Given the description of an element on the screen output the (x, y) to click on. 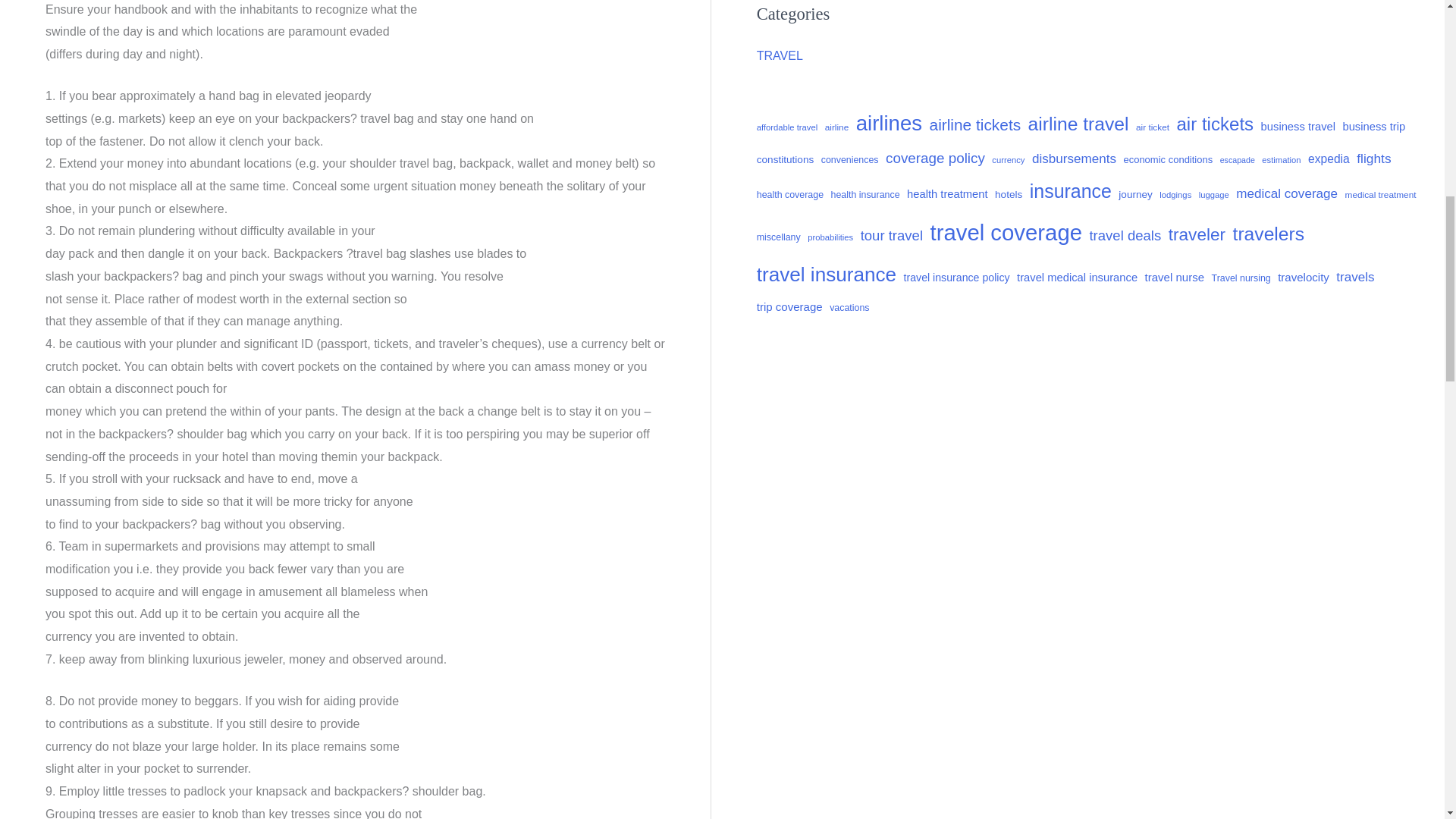
TRAVEL (780, 55)
airline (836, 127)
airlines (888, 123)
affordable travel (786, 127)
